Given the description of an element on the screen output the (x, y) to click on. 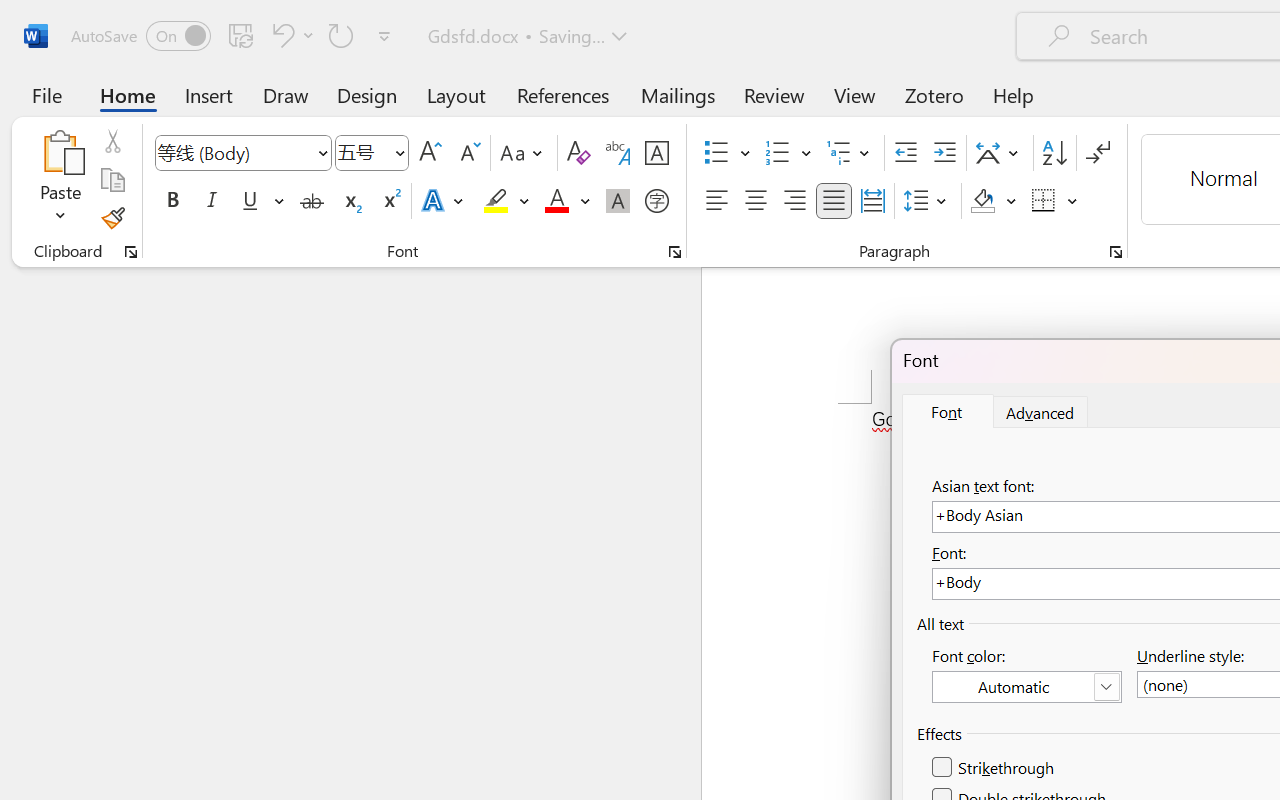
Text Highlight Color (506, 201)
Enclose Characters... (656, 201)
Grow Font (430, 153)
Cut (112, 141)
Text Highlight Color Yellow (495, 201)
Office Clipboard... (131, 252)
